Given the description of an element on the screen output the (x, y) to click on. 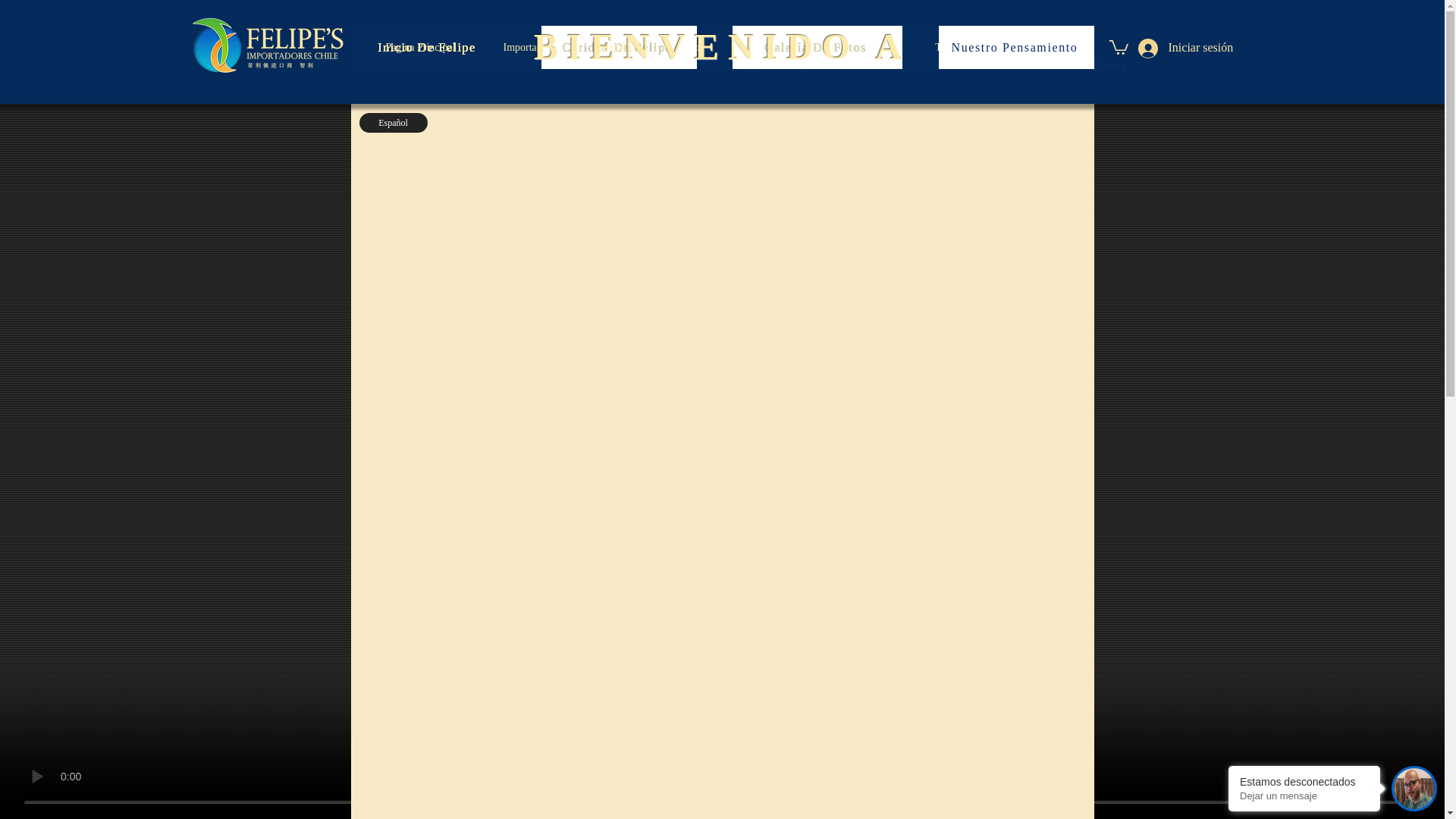
Tienda (949, 47)
Estamos desconectados (1304, 781)
Testimonios (860, 47)
Contact (1108, 65)
Inicio De Felipe (427, 46)
Recetas (619, 46)
Importar Y Exportar (545, 47)
Tu Experiencia (1016, 46)
Leyendo (768, 47)
Home (664, 65)
Dejar un mensaje (1304, 795)
Pagina Principal (420, 47)
Contact Us (1034, 47)
